Given the description of an element on the screen output the (x, y) to click on. 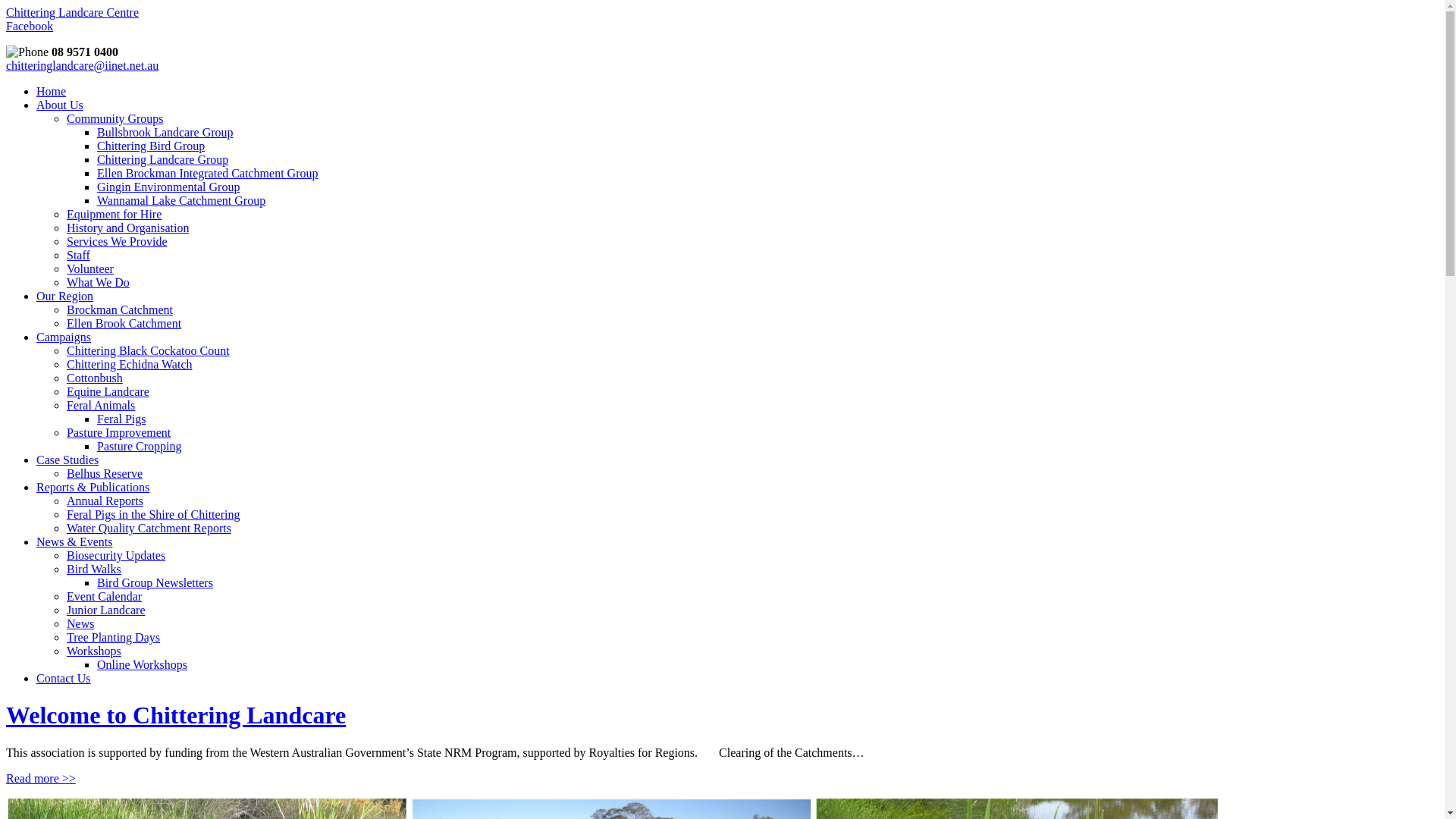
Equipment for Hire Element type: text (113, 213)
Wannamal Lake Catchment Group Element type: text (181, 200)
Ellen Brook Catchment Element type: text (123, 322)
Junior Landcare Element type: text (105, 609)
Bird Walks Element type: text (93, 568)
Belhus Reserve Element type: text (104, 473)
Our Region Element type: text (64, 295)
Feral Pigs Element type: text (121, 418)
News & Events Element type: text (74, 541)
Tree Planting Days Element type: text (113, 636)
Online Workshops Element type: text (142, 664)
chitteringlandcare@iinet.net.au Element type: text (82, 65)
Annual Reports Element type: text (104, 500)
About Us Element type: text (59, 104)
Feral Animals Element type: text (100, 404)
Facebook Element type: text (29, 25)
News Element type: text (80, 623)
What We Do Element type: text (97, 282)
Volunteer Element type: text (89, 268)
Bird Group Newsletters Element type: text (155, 582)
Chittering Black Cockatoo Count Element type: text (147, 350)
Cottonbush Element type: text (94, 377)
Brockman Catchment Element type: text (119, 309)
Case Studies Element type: text (67, 459)
Equine Landcare Element type: text (107, 391)
History and Organisation Element type: text (127, 227)
Biosecurity Updates Element type: text (115, 555)
Reports & Publications Element type: text (92, 486)
Home Element type: text (50, 90)
Chittering Landcare Group Element type: text (162, 159)
Chittering Bird Group Element type: text (150, 145)
Community Groups Element type: text (114, 118)
Pasture Cropping Element type: text (139, 445)
Ellen Brockman Integrated Catchment Group Element type: text (207, 172)
Welcome to Chittering Landcare Element type: text (175, 714)
Chittering Echidna Watch Element type: text (128, 363)
Contact Us Element type: text (63, 677)
Chittering Landcare Centre Element type: text (72, 12)
Feral Pigs in the Shire of Chittering Element type: text (152, 514)
Staff Element type: text (78, 254)
Services We Provide Element type: text (116, 241)
Event Calendar Element type: text (103, 595)
Gingin Environmental Group Element type: text (168, 186)
Campaigns Element type: text (63, 336)
Bullsbrook Landcare Group Element type: text (165, 131)
Workshops Element type: text (93, 650)
Water Quality Catchment Reports Element type: text (148, 527)
Read more >> Element type: text (40, 777)
Pasture Improvement Element type: text (118, 432)
